Given the description of an element on the screen output the (x, y) to click on. 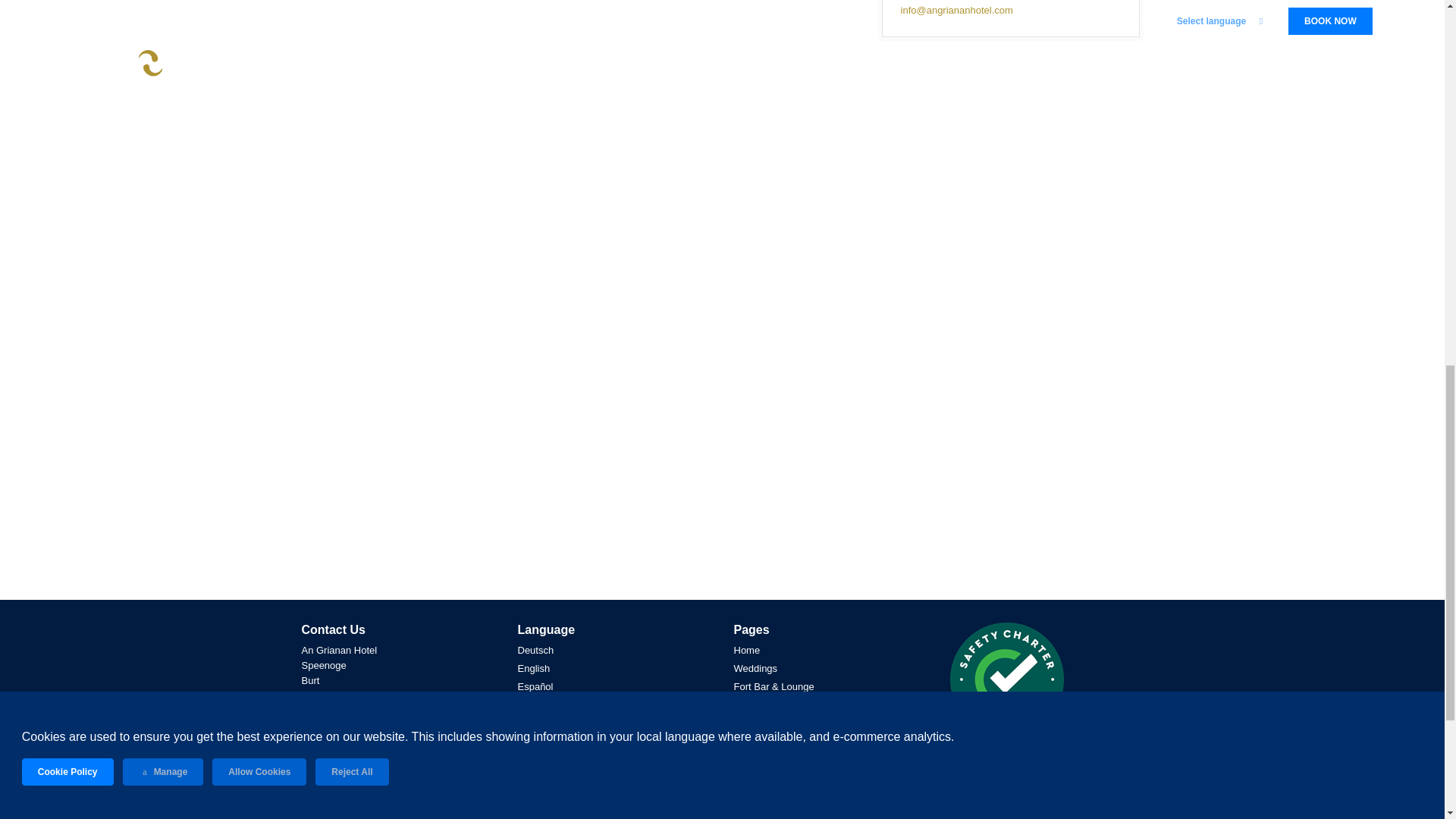
Deutsch (534, 650)
English (533, 668)
Italiano (532, 723)
